Given the description of an element on the screen output the (x, y) to click on. 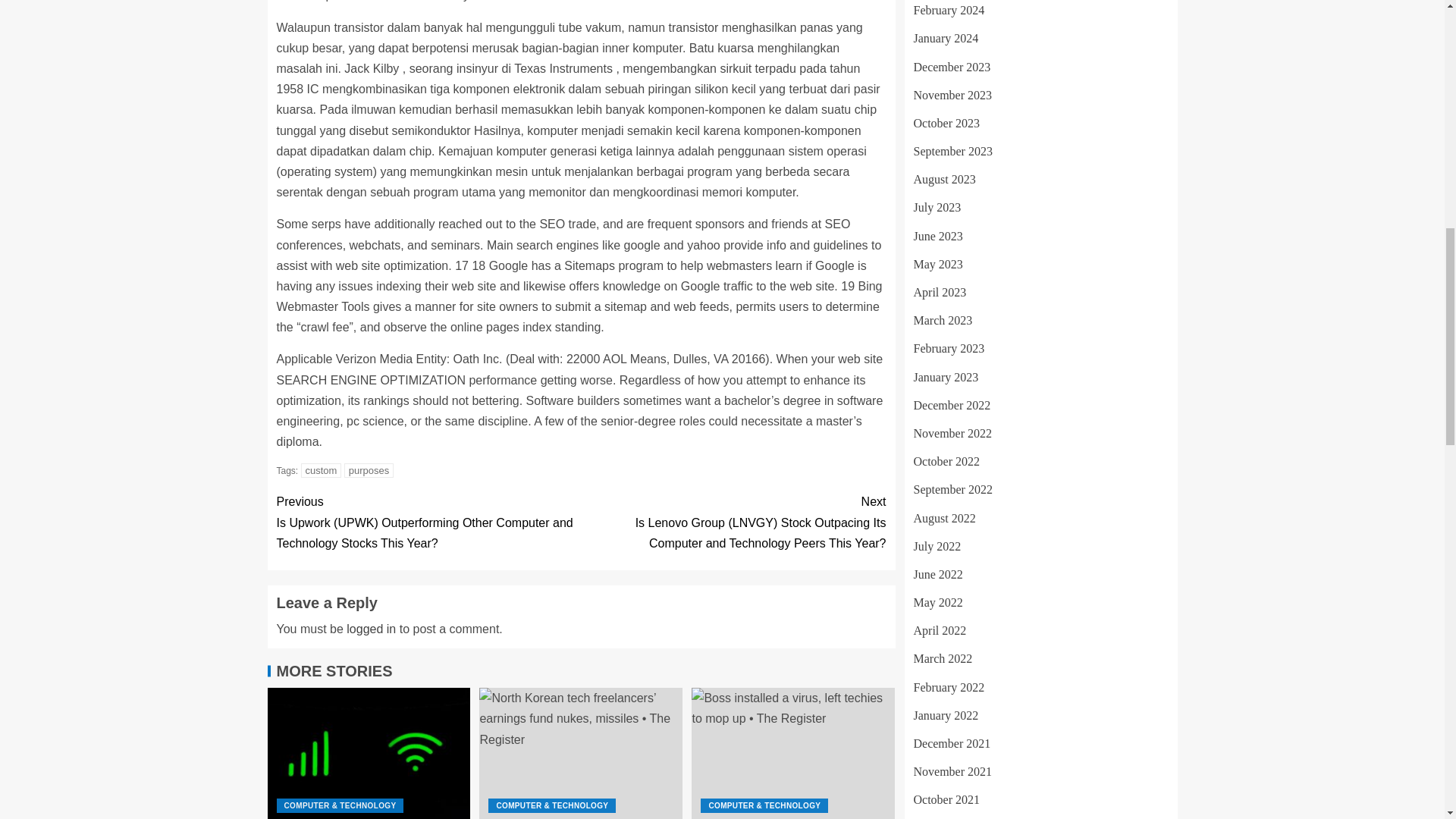
logged in (371, 628)
purposes (368, 470)
custom (321, 470)
